Given the description of an element on the screen output the (x, y) to click on. 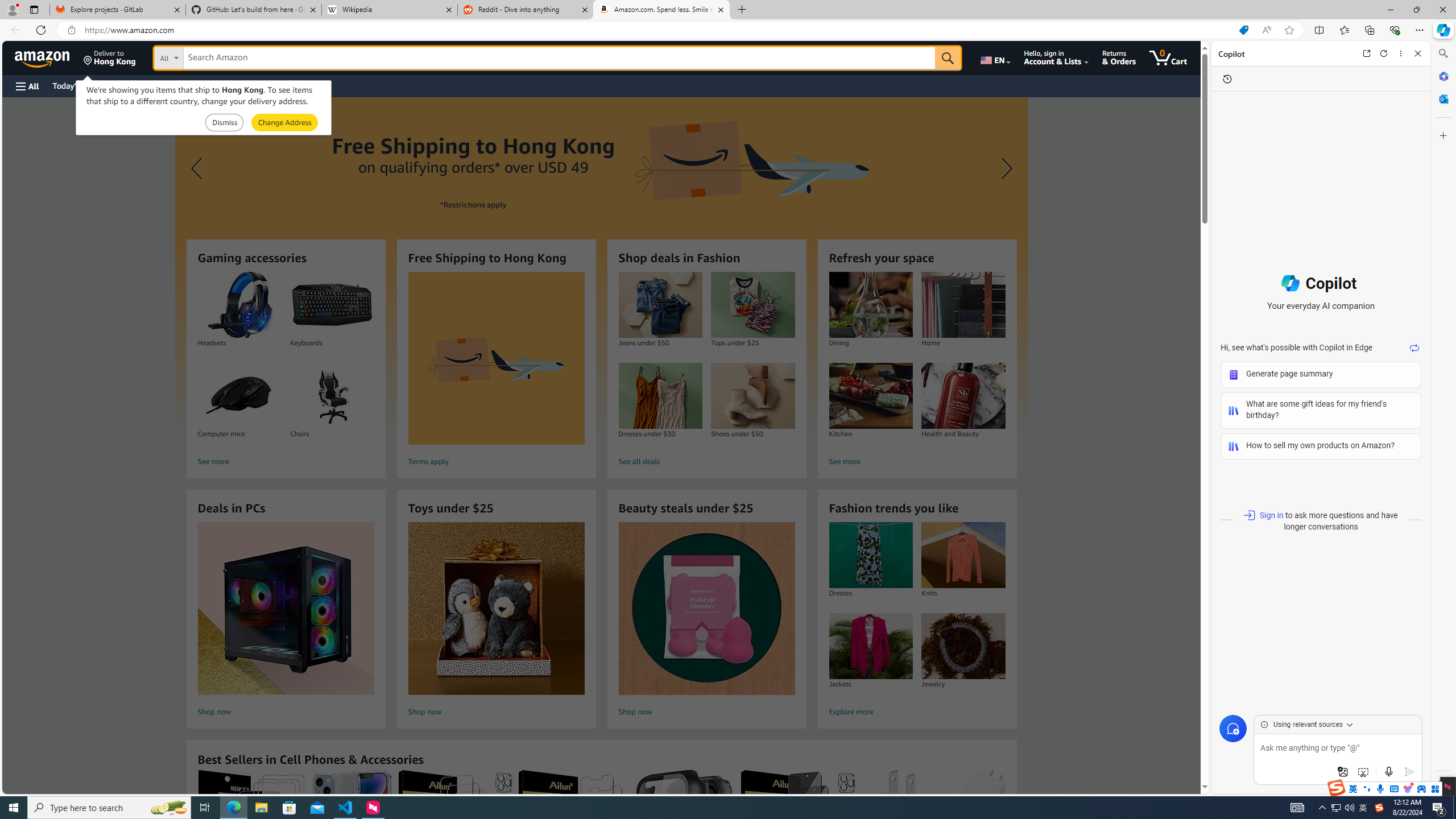
Free Shipping to Hong Kong Learn more (600, 267)
Jewelry (963, 645)
Knits (963, 555)
Amazon.com. Spend less. Smile more. (660, 9)
Returns & Orders (1119, 57)
Choose a language for shopping. (995, 57)
Jewelry (963, 645)
